Given the description of an element on the screen output the (x, y) to click on. 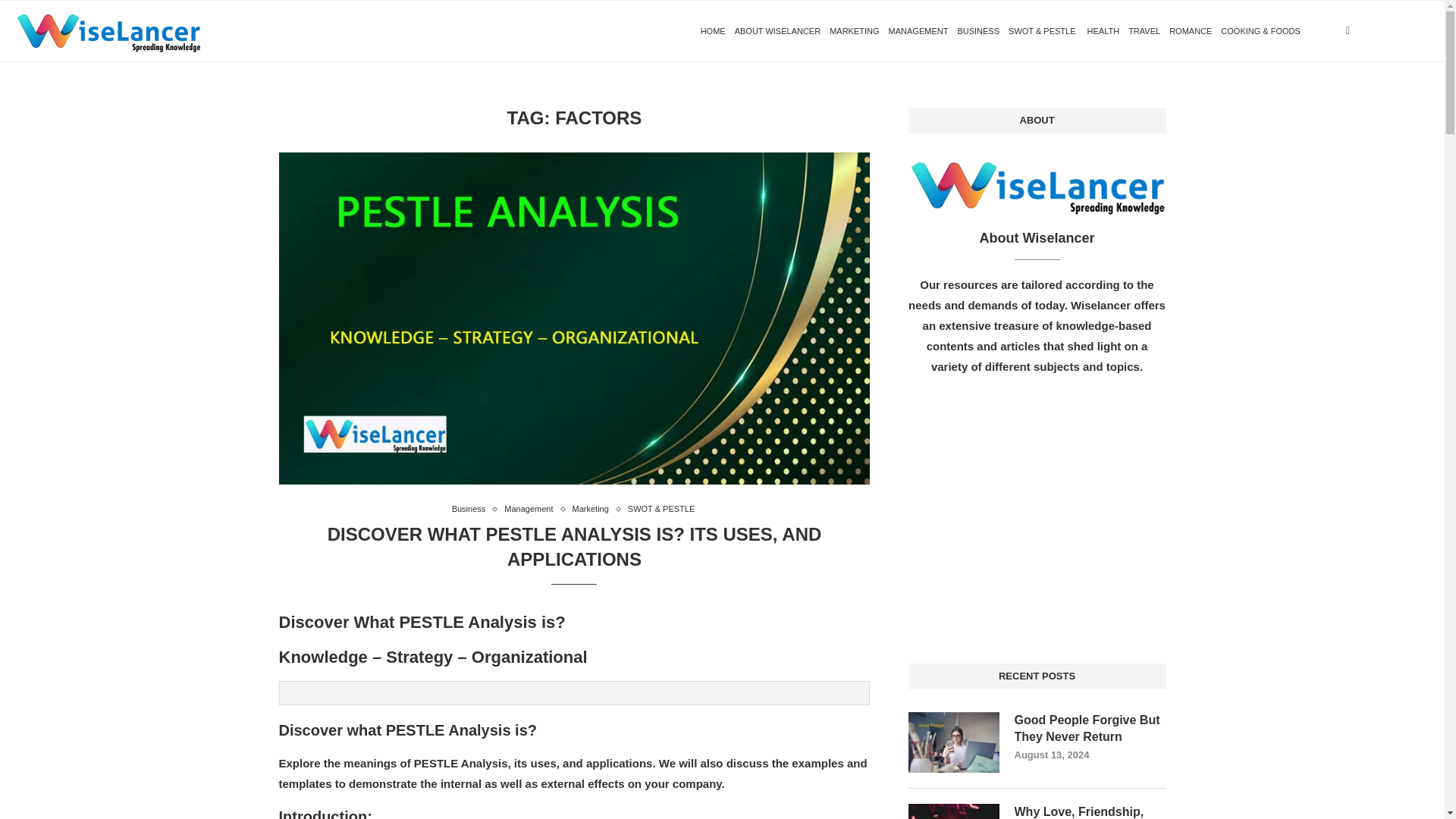
ABOUT WISELANCER (778, 30)
Marketing (593, 509)
Good People Forgive But They Never Return (953, 742)
Good People Forgive But They Never Return (1090, 728)
Management (531, 509)
MANAGEMENT (918, 30)
Business (472, 509)
DISCOVER WHAT PESTLE ANALYSIS IS? ITS USES, AND APPLICATIONS (574, 546)
